Given the description of an element on the screen output the (x, y) to click on. 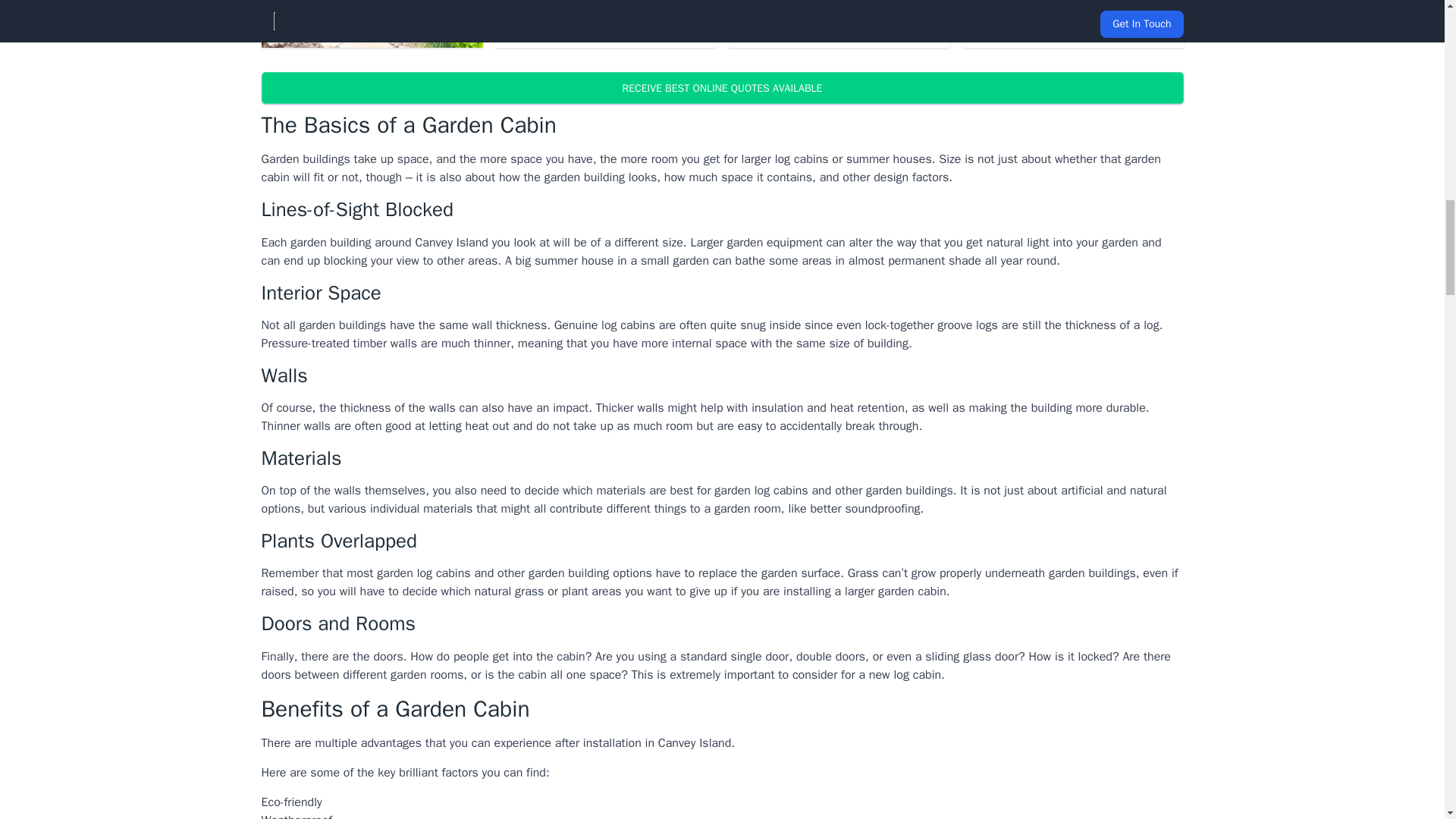
RECEIVE BEST ONLINE QUOTES AVAILABLE (721, 88)
